Given the description of an element on the screen output the (x, y) to click on. 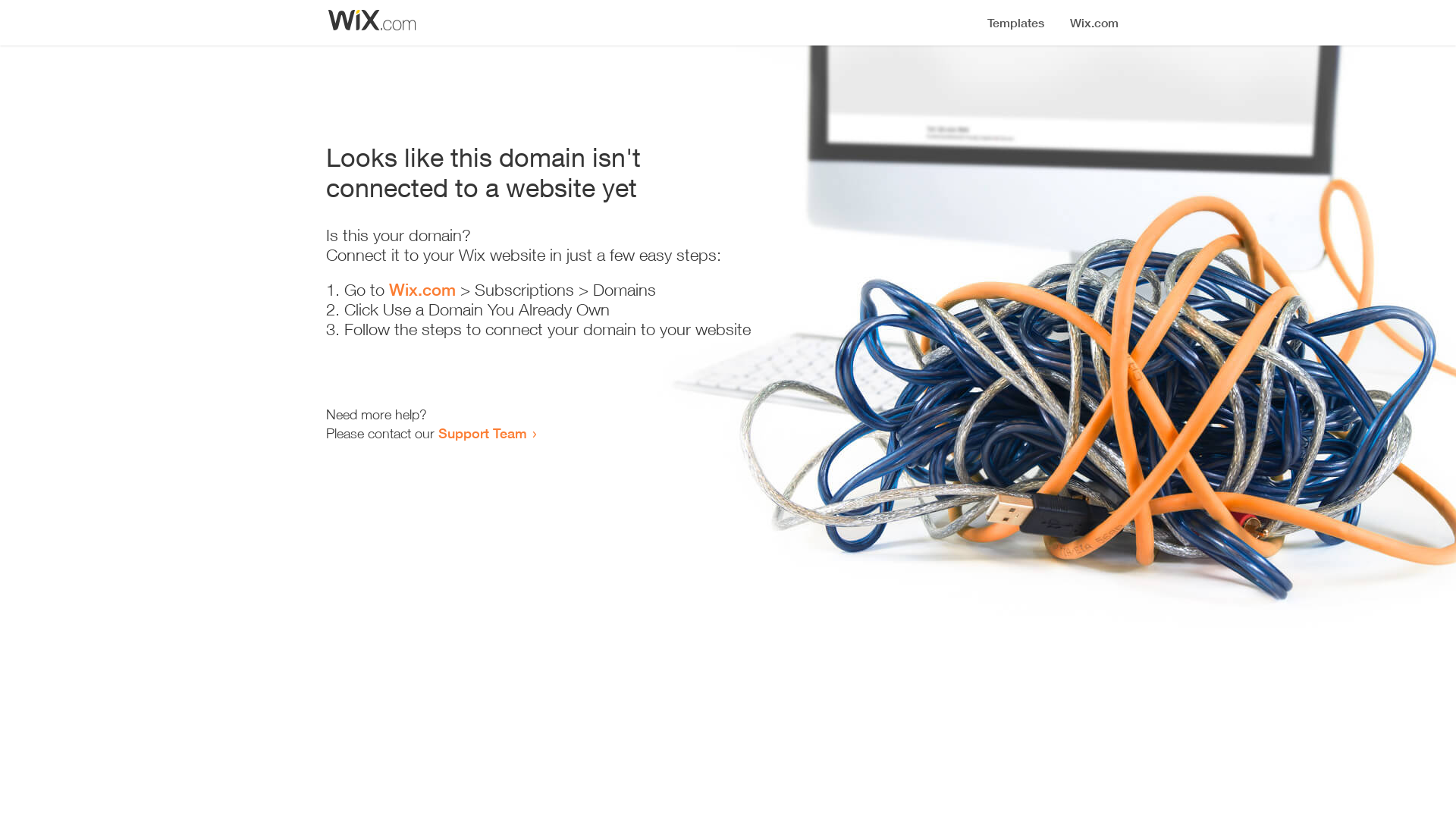
Support Team Element type: text (482, 432)
Wix.com Element type: text (422, 289)
